Given the description of an element on the screen output the (x, y) to click on. 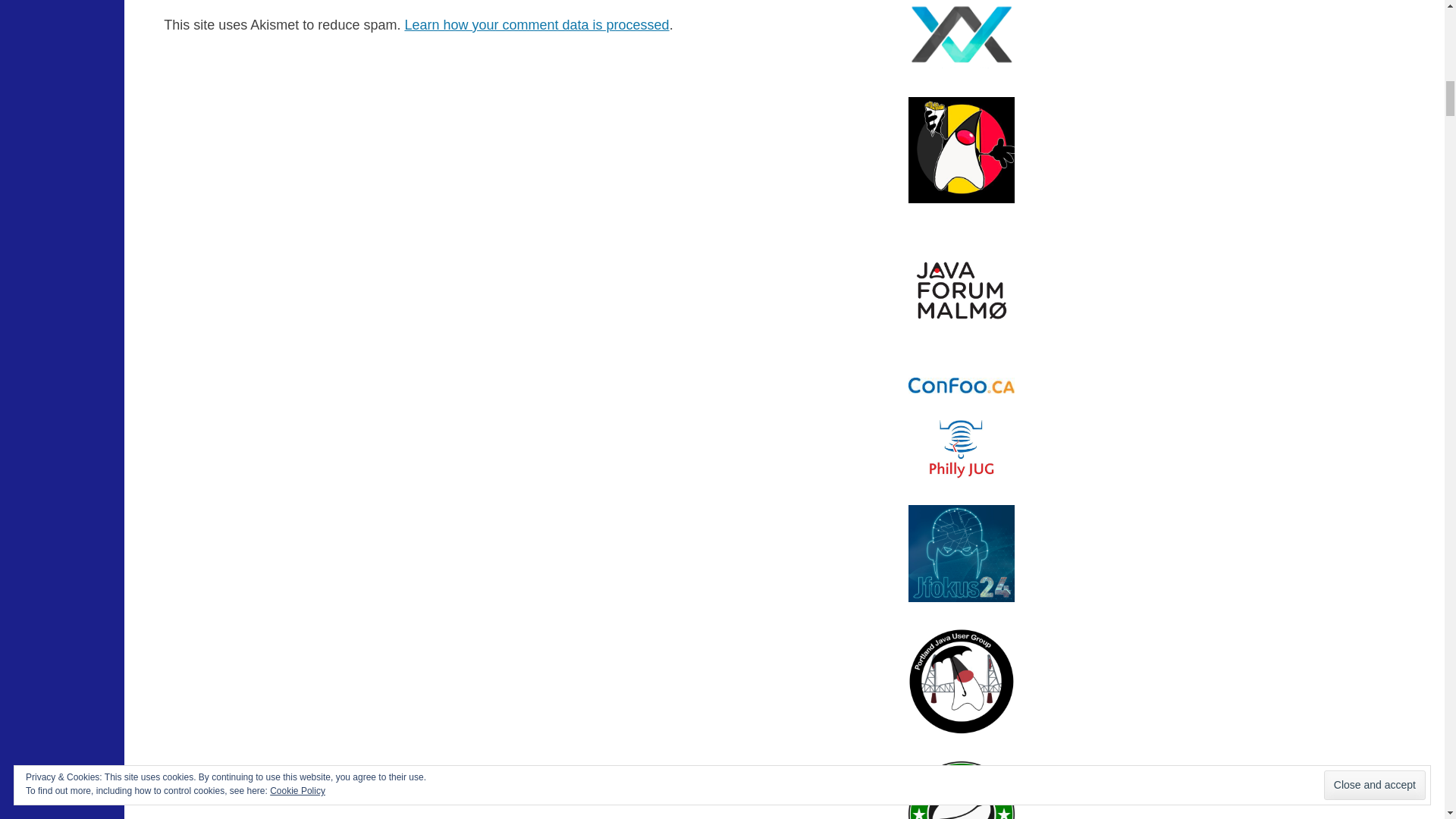
Learn how your comment data is processed (536, 24)
